Given the description of an element on the screen output the (x, y) to click on. 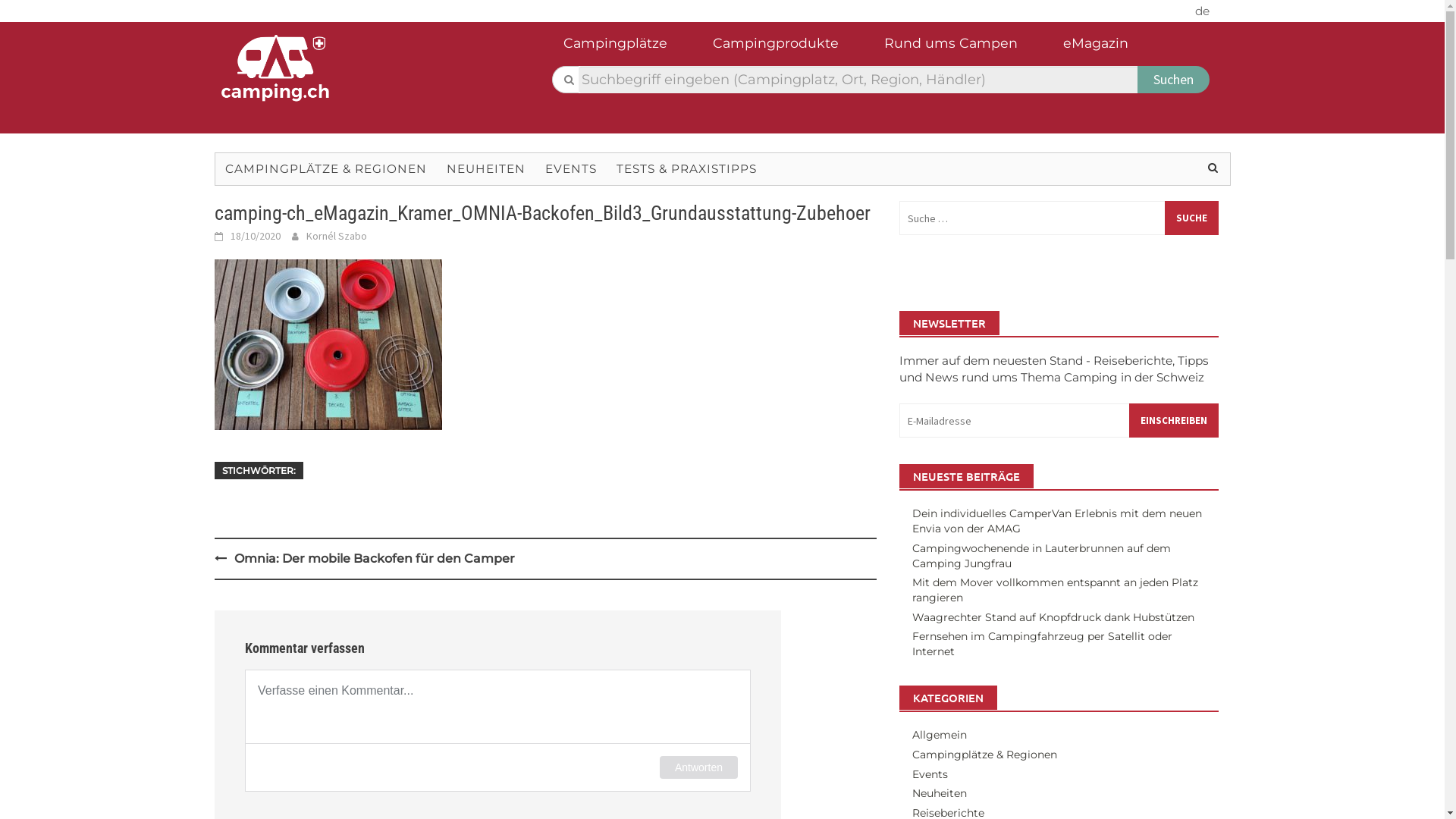
TESTS & PRAXISTIPPS Element type: text (686, 169)
Suchen Element type: text (1173, 79)
Neuheiten Element type: text (939, 793)
Fernsehen im Campingfahrzeug per Satellit oder Internet Element type: text (1042, 643)
Allgemein Element type: text (939, 734)
NEUHEITEN Element type: text (485, 169)
18/10/2020 Element type: text (255, 235)
Einschreiben Element type: text (1173, 420)
Events Element type: text (929, 774)
Suche Element type: text (1191, 217)
Kommentarformular Element type: hover (496, 730)
eMagazin Element type: text (1110, 47)
EVENTS Element type: text (570, 169)
Campingwochenende in Lauterbrunnen auf dem Camping Jungfrau Element type: text (1041, 555)
Rund ums Campen Element type: text (965, 47)
Campingprodukte Element type: text (790, 47)
Mit dem Mover vollkommen entspannt an jeden Platz rangieren Element type: text (1055, 589)
